Given the description of an element on the screen output the (x, y) to click on. 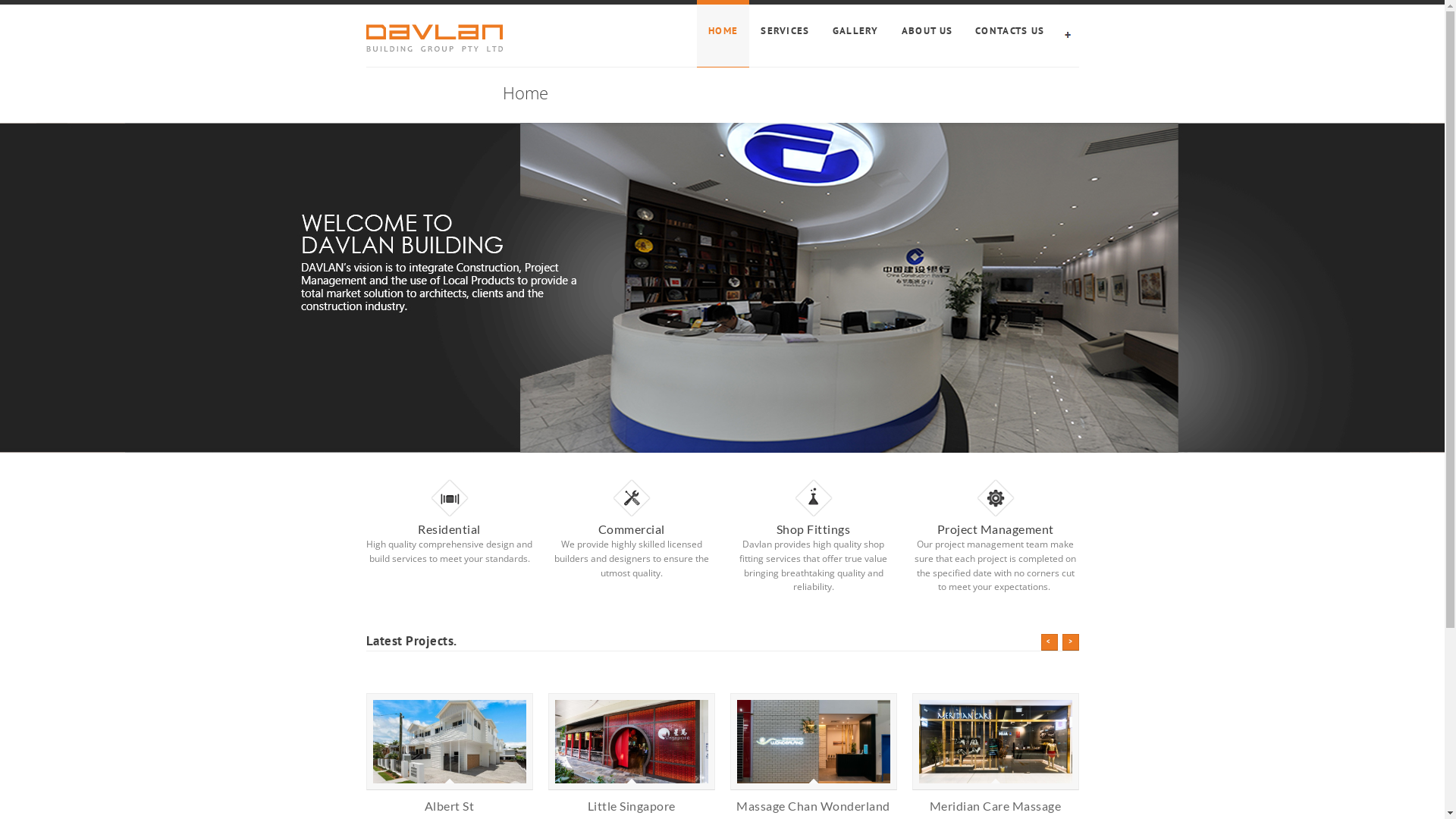
CONTACTS US Element type: text (1009, 33)
Meridian Care Massage Element type: text (995, 805)
Davlan Group Element type: hover (433, 37)
Shop Fittings Element type: text (812, 528)
ABOUT US Element type: text (926, 33)
Little Singapore Element type: text (630, 805)
GALLERY Element type: text (855, 33)
HOME Element type: text (722, 33)
Albert St Element type: text (449, 805)
Commercial Element type: text (630, 528)
Massage Chan Wonderland Element type: text (813, 805)
Project Management Element type: text (994, 528)
Residential Element type: text (448, 528)
SERVICES Element type: text (784, 33)
